Given the description of an element on the screen output the (x, y) to click on. 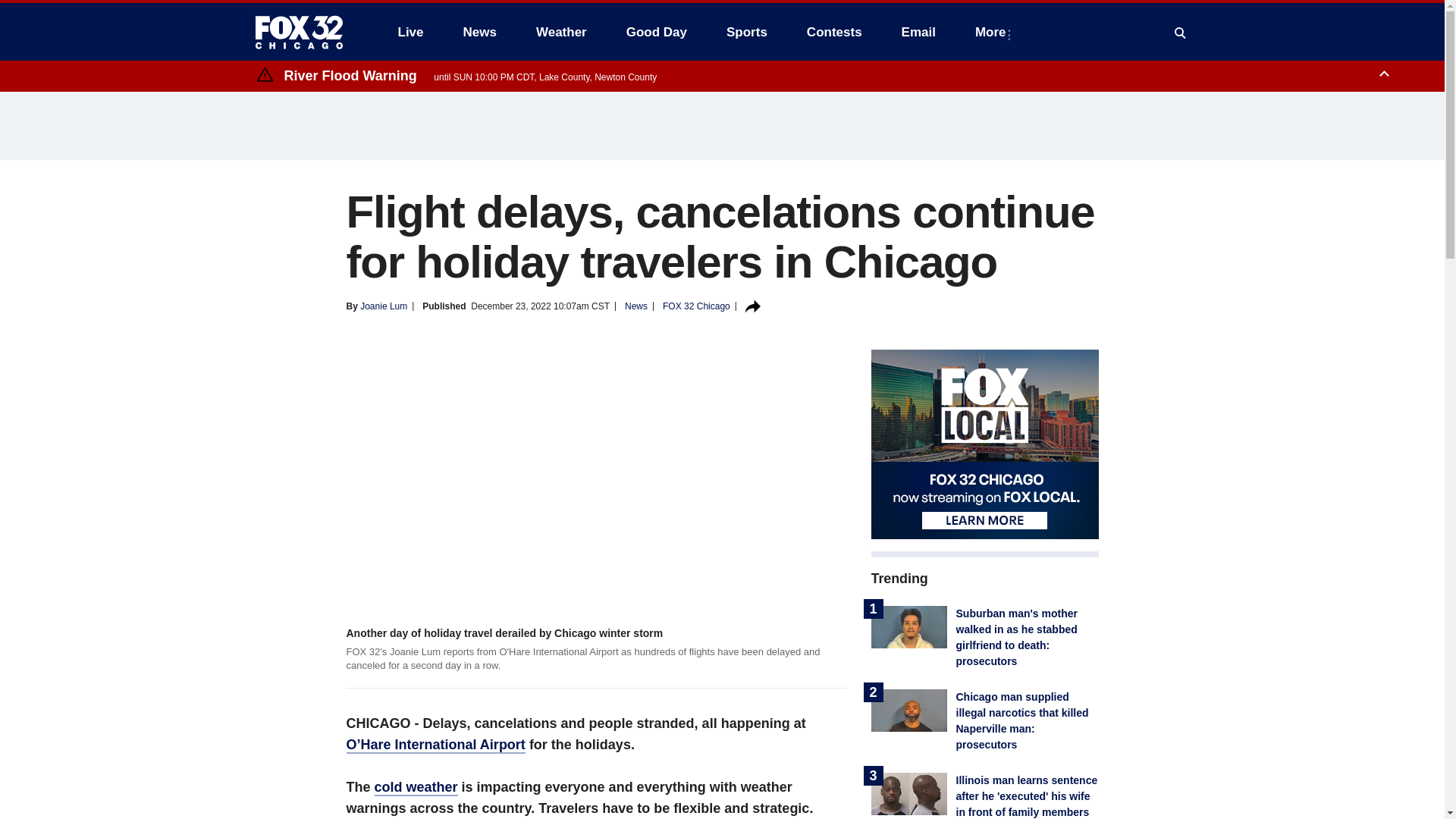
News (479, 32)
More (993, 32)
Good Day (656, 32)
Sports (746, 32)
Email (918, 32)
Weather (561, 32)
Contests (834, 32)
Live (410, 32)
